Given the description of an element on the screen output the (x, y) to click on. 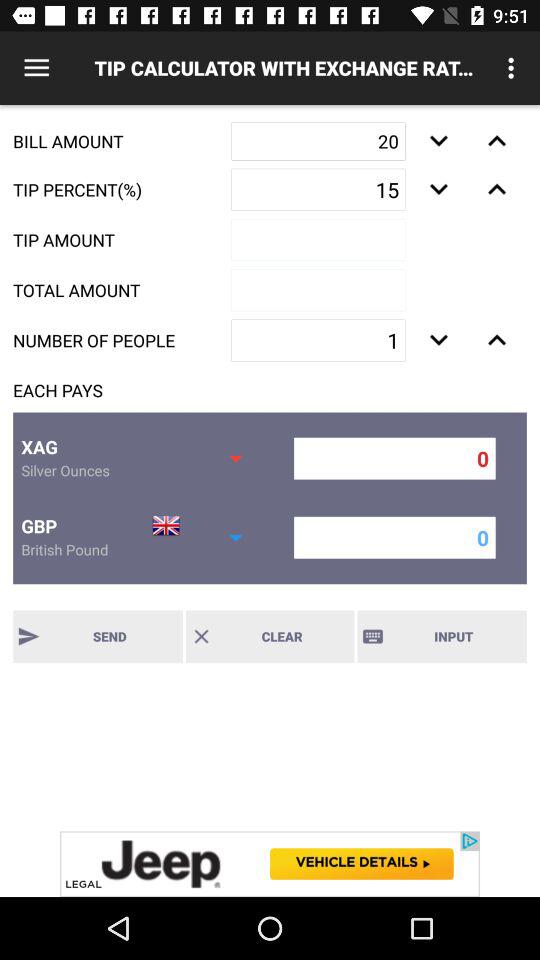
increase tip percent (496, 189)
